Given the description of an element on the screen output the (x, y) to click on. 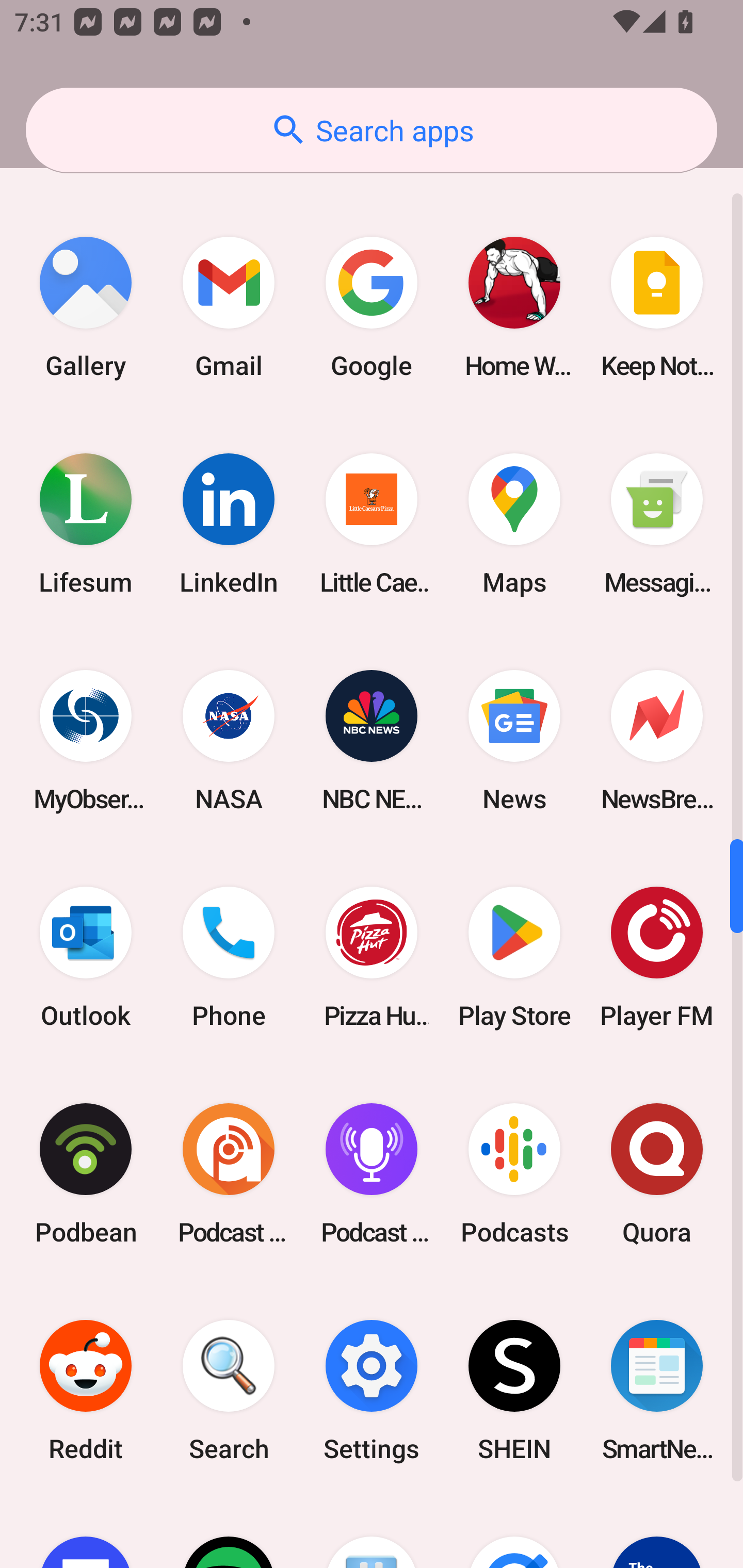
  Search apps (371, 130)
Gallery (85, 307)
Gmail (228, 307)
Google (371, 307)
Home Workout (514, 307)
Keep Notes (656, 307)
Lifesum (85, 523)
LinkedIn (228, 523)
Little Caesars Pizza (371, 523)
Maps (514, 523)
Messaging (656, 523)
MyObservatory (85, 739)
NASA (228, 739)
NBC NEWS (371, 739)
News (514, 739)
NewsBreak (656, 739)
Outlook (85, 957)
Phone (228, 957)
Pizza Hut HK & Macau (371, 957)
Play Store (514, 957)
Player FM (656, 957)
Podbean (85, 1174)
Podcast Addict (228, 1174)
Podcast Player (371, 1174)
Podcasts (514, 1174)
Quora (656, 1174)
Reddit (85, 1390)
Search (228, 1390)
Settings (371, 1390)
SHEIN (514, 1390)
SmartNews (656, 1390)
